Given the description of an element on the screen output the (x, y) to click on. 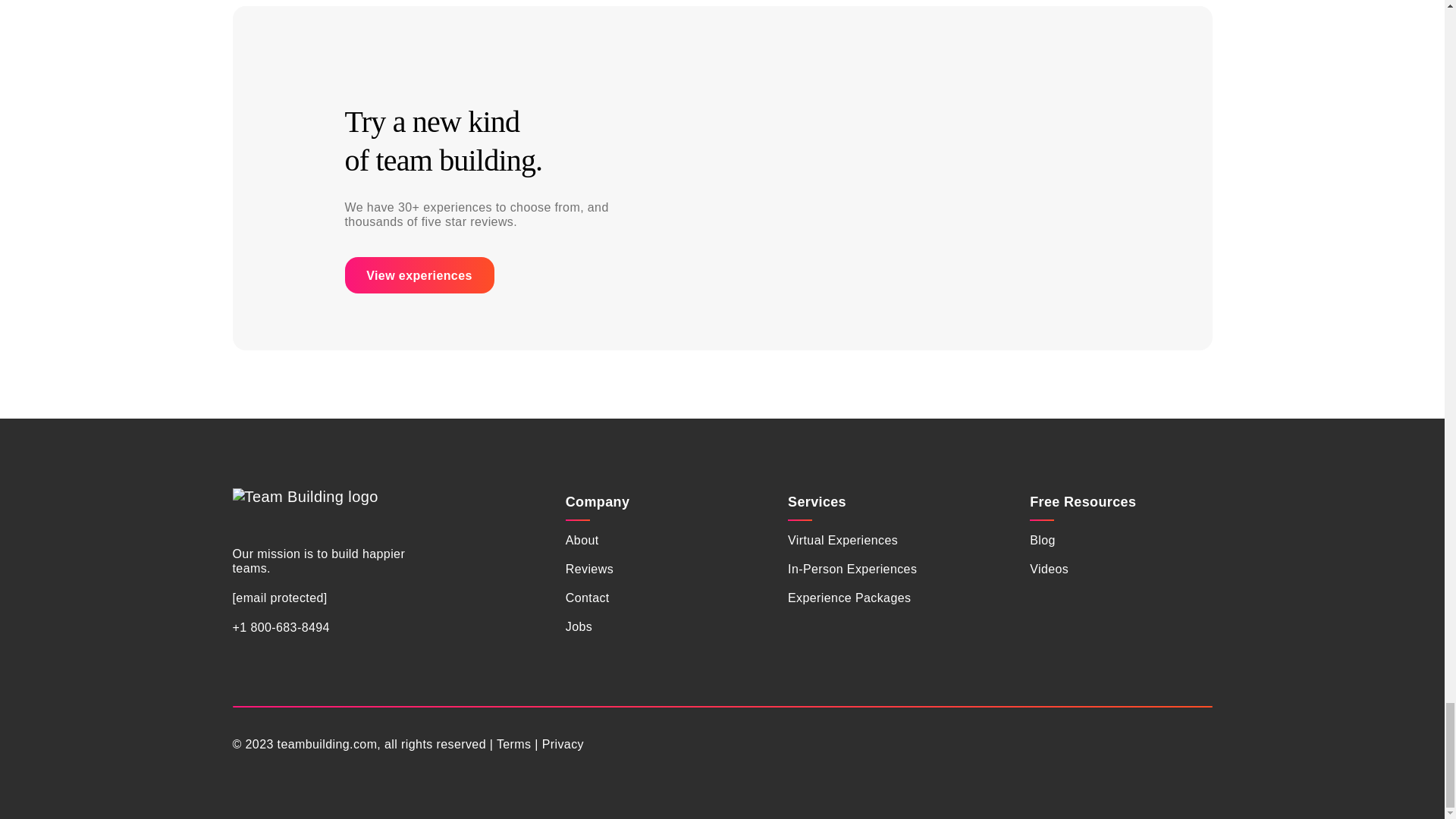
In-Person Experiences (852, 568)
Virtual Experiences (842, 540)
Contact (588, 597)
Terms (513, 744)
Blog (1042, 540)
Privacy (562, 744)
Videos (1048, 568)
About (582, 540)
Experience Packages (849, 597)
Reviews (589, 568)
Jobs (579, 626)
View experiences (418, 275)
